Given the description of an element on the screen output the (x, y) to click on. 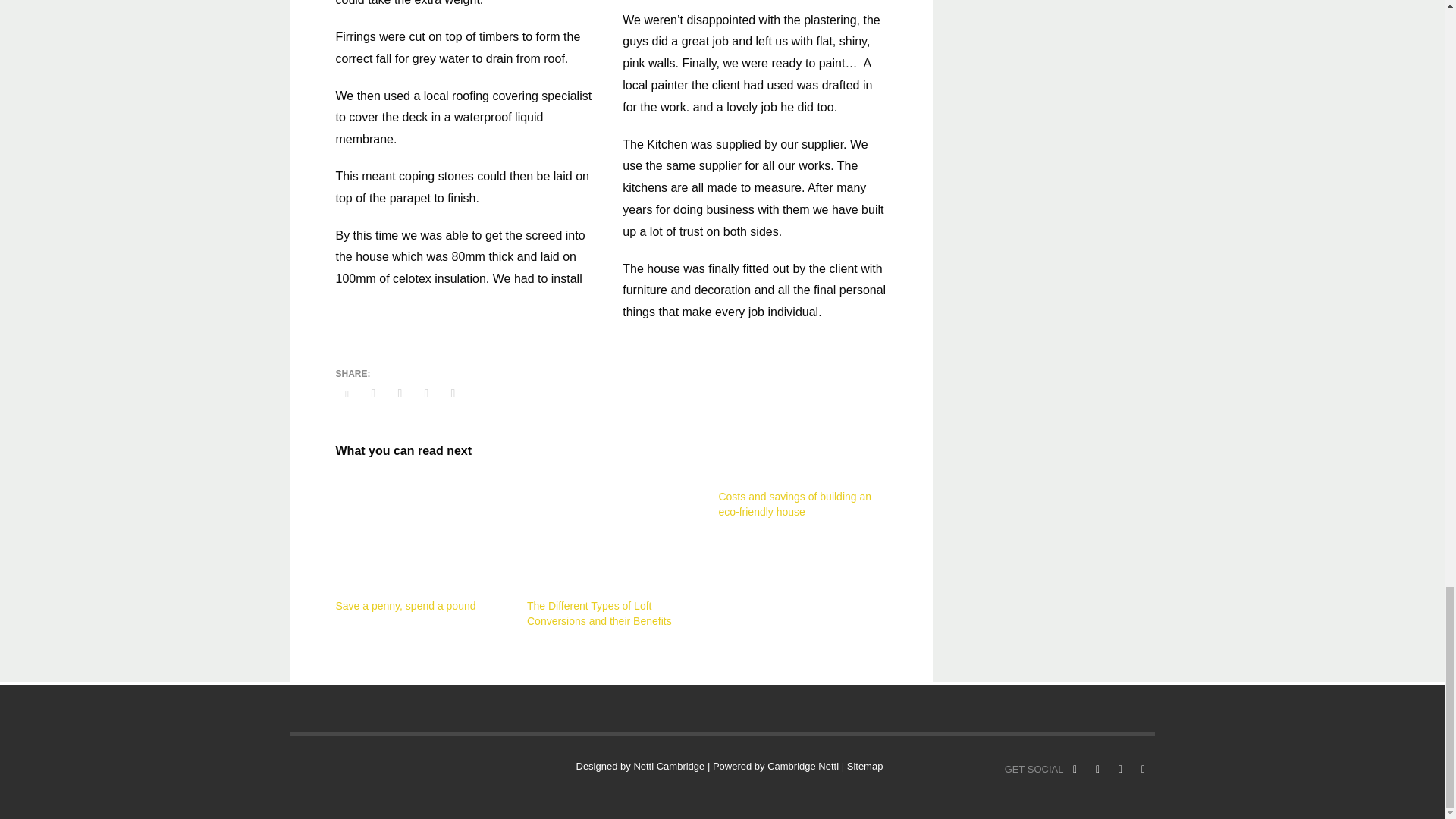
Like us on Facebook! (1074, 769)
SHARE ON PINTEREST (426, 393)
SHARE ON MAIL (452, 393)
Save a penny, spend a pound (418, 535)
toa-heftiba-WqE24tdeRMU-unsplash (611, 535)
SHARE ON TWITTER (346, 394)
SHARE ON FACEBOOK (373, 393)
Follow our tweets! (1097, 769)
SHARE ON GPLUS (399, 393)
